Given the description of an element on the screen output the (x, y) to click on. 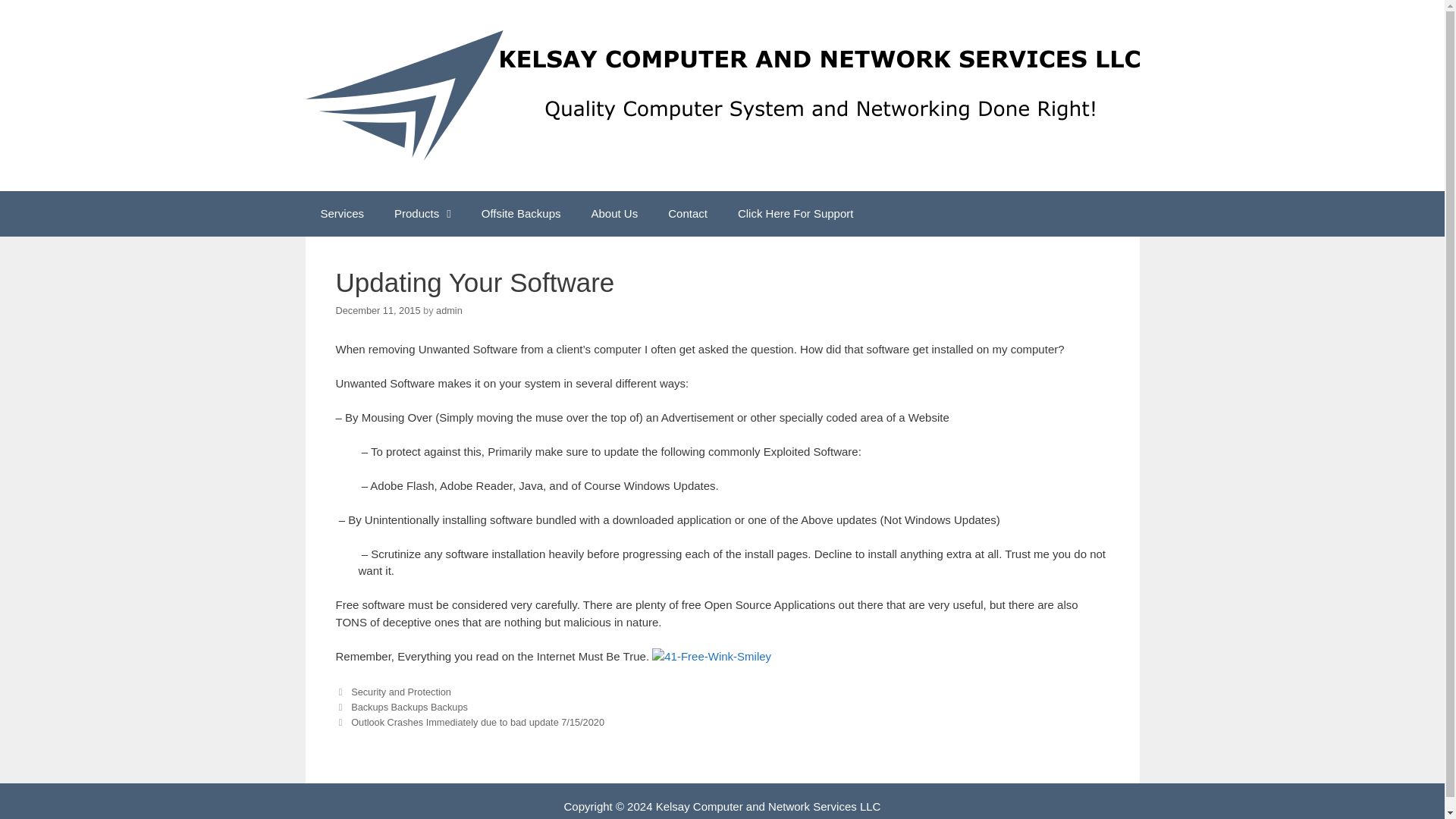
Skip to content (37, 8)
Previous (400, 706)
Click Here For Support (795, 213)
December 11, 2015 (377, 310)
9:09 am (377, 310)
Next (469, 722)
Security and Protection (400, 690)
Products (421, 213)
Skip to content (37, 8)
admin (449, 310)
Offsite Backups (520, 213)
About Us (614, 213)
Backups Backups Backups (408, 706)
KELSAY COMPUTER AND NETWORK SERVICES LLC (721, 95)
KELSAY COMPUTER AND NETWORK SERVICES LLC (721, 93)
